Given the description of an element on the screen output the (x, y) to click on. 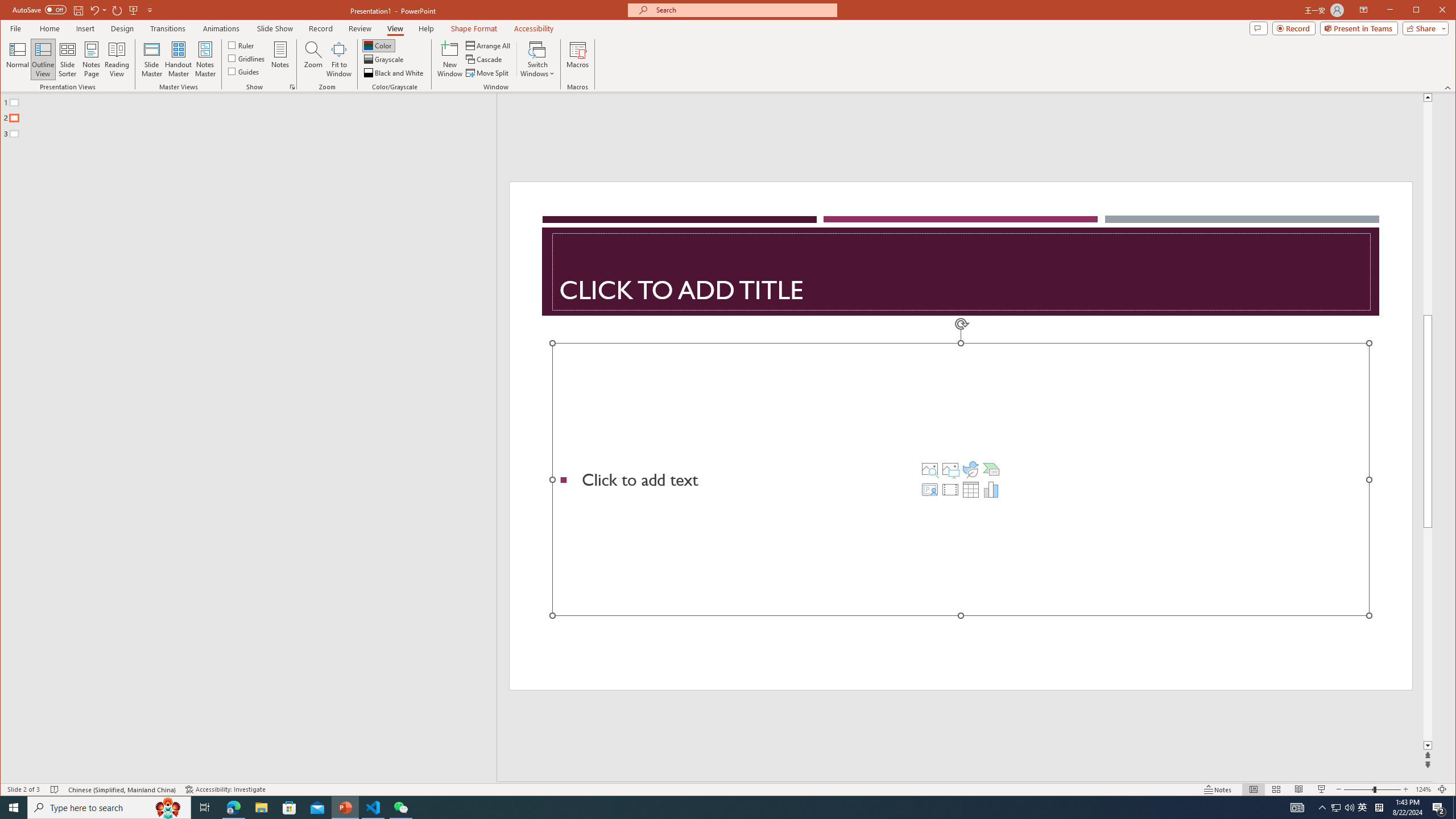
Insert a SmartArt Graphic (991, 469)
Color (378, 45)
Rectangle (242, 436)
Record (1294, 28)
PowerPoint - 1 running window (345, 807)
Insert Chart (991, 489)
Pictures (949, 469)
Insert Table (970, 489)
Slide Show (274, 28)
Home (49, 28)
Visual Studio Code - 1 running window (373, 807)
Show desktop (1454, 807)
Save (77, 9)
Notes Master (204, 59)
